Given the description of an element on the screen output the (x, y) to click on. 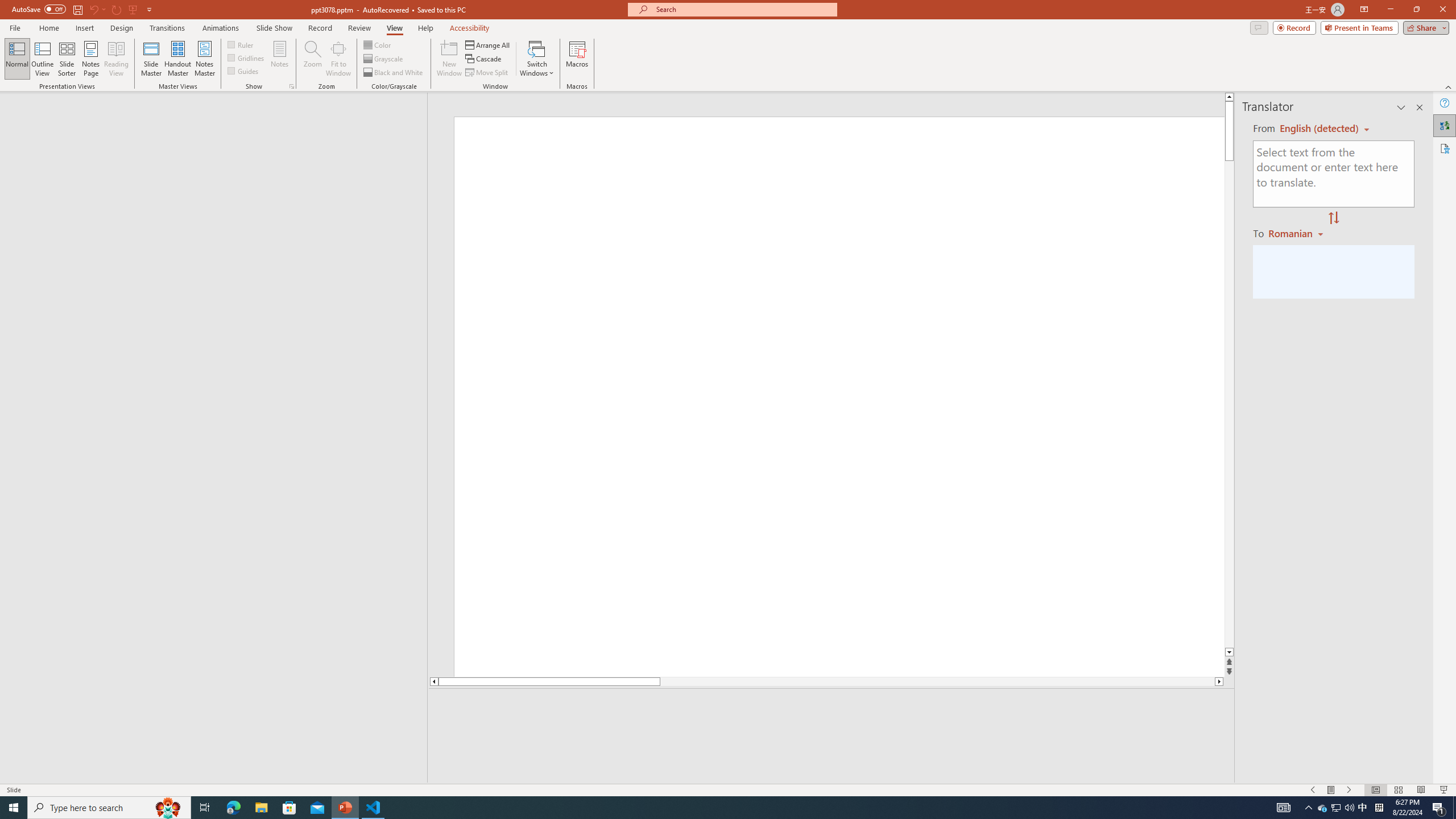
Outline View (42, 58)
Fit to Window (338, 58)
Guides (243, 69)
Arrange All (488, 44)
Move Split (487, 72)
